Given the description of an element on the screen output the (x, y) to click on. 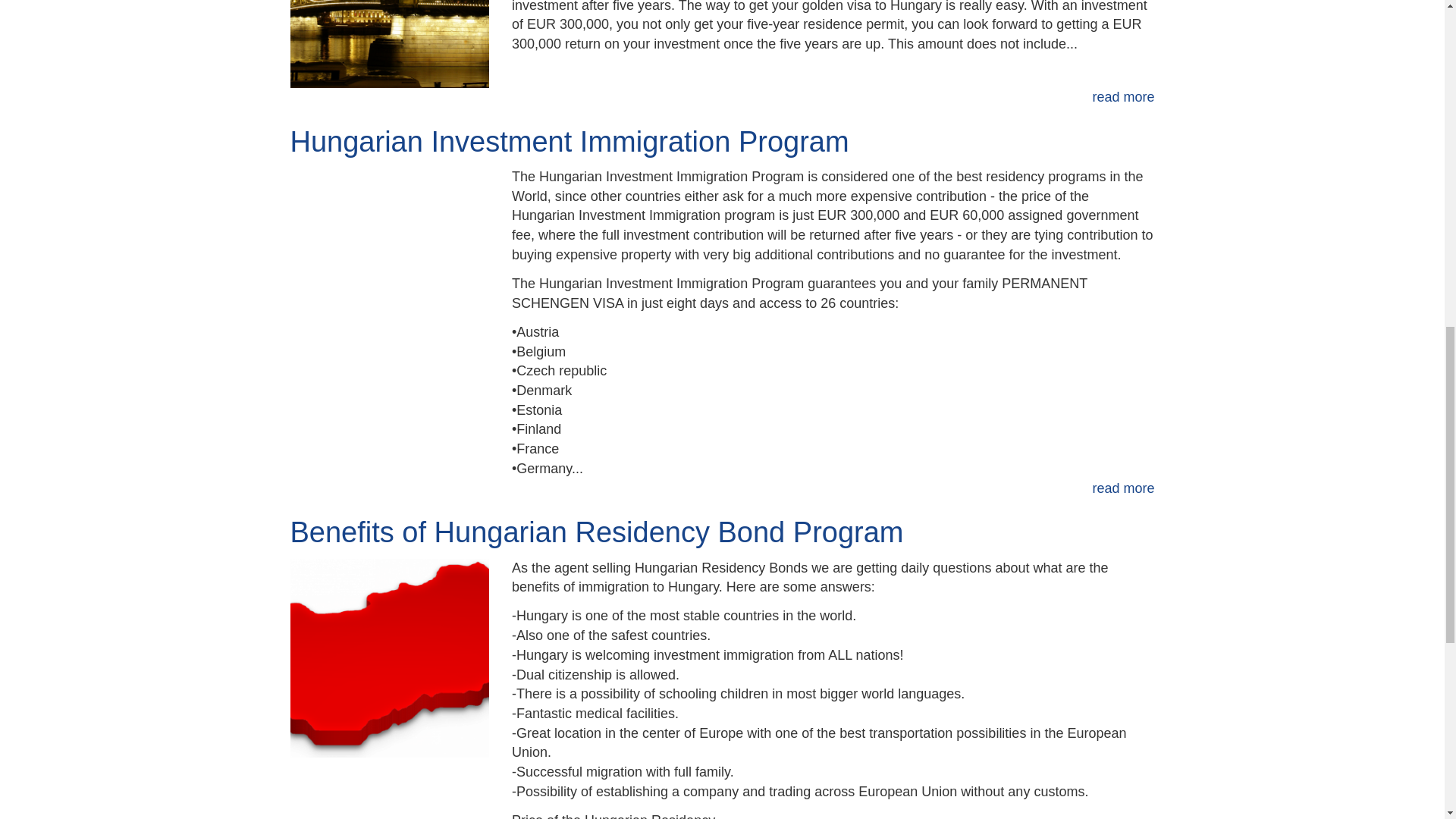
Benefits of Hungarian Residency Bond Program (595, 531)
Hungarian Investment Immigration Program (568, 142)
read more (1123, 96)
read more (1123, 488)
